Given the description of an element on the screen output the (x, y) to click on. 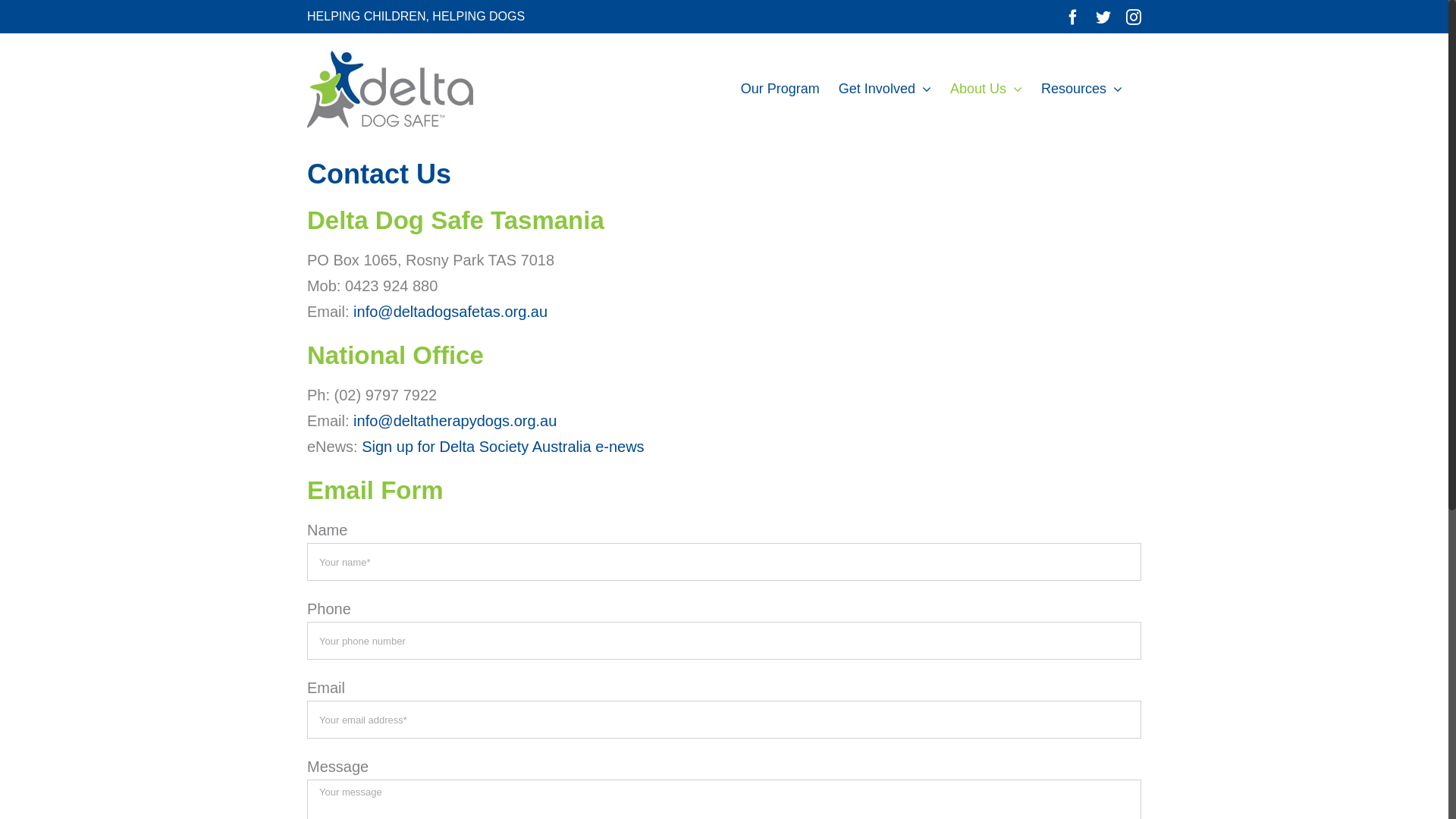
About Us Element type: text (986, 88)
Twitter Element type: text (1102, 17)
Our Program Element type: text (779, 88)
info@deltatherapydogs.org.au Element type: text (454, 420)
info@deltadogsafetas.org.au Element type: text (450, 311)
Sign up for Delta Society Australia e-news Element type: text (502, 446)
Resources Element type: text (1081, 88)
Instagram Element type: text (1133, 17)
Get Involved Element type: text (884, 88)
Facebook Element type: text (1072, 17)
